Given the description of an element on the screen output the (x, y) to click on. 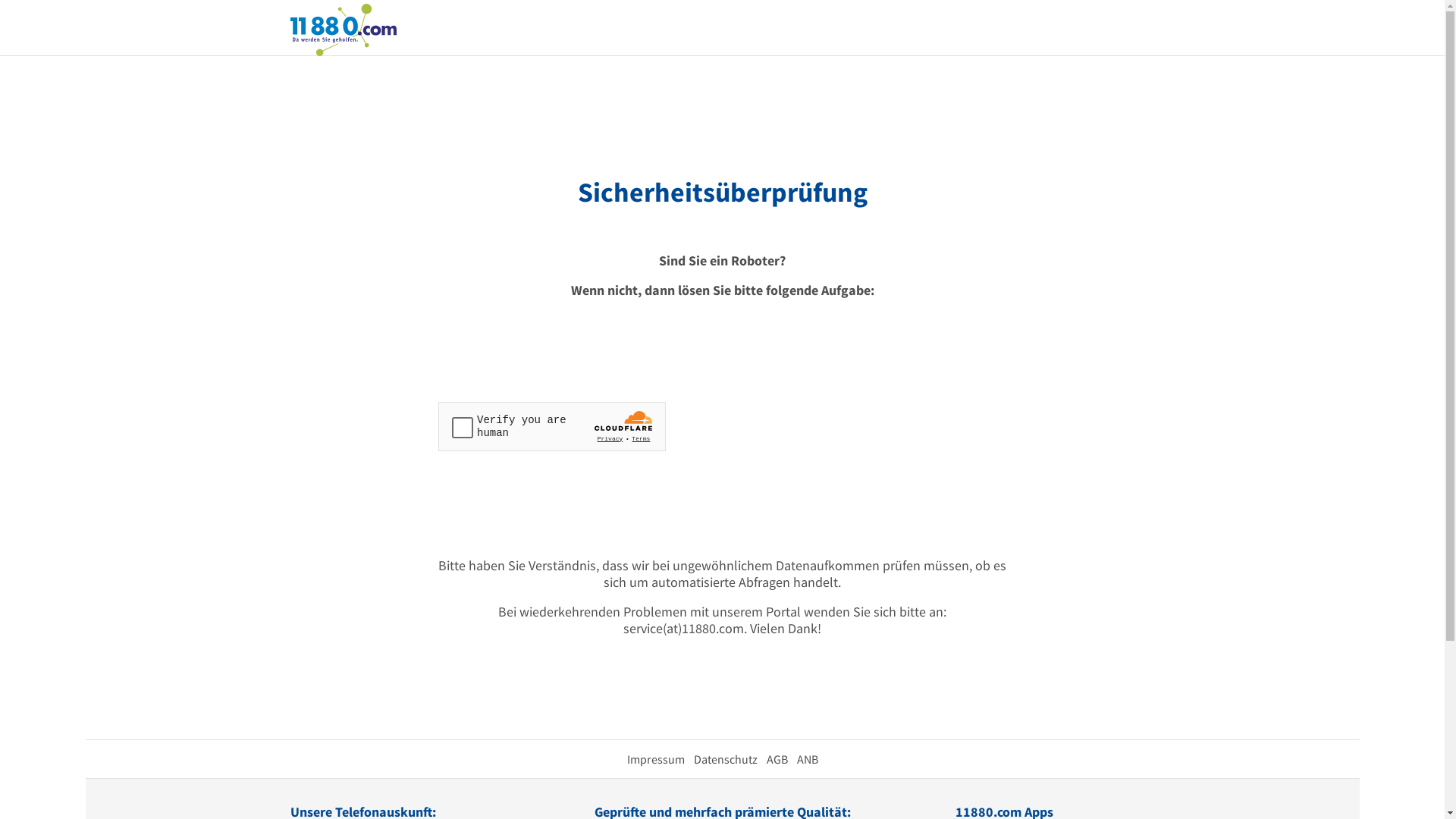
Widget containing a Cloudflare security challenge Element type: hover (551, 426)
AGB Element type: text (776, 758)
11880.com Element type: hover (342, 28)
ANB Element type: text (806, 758)
Datenschutz Element type: text (724, 758)
Impressum Element type: text (655, 758)
